Given the description of an element on the screen output the (x, y) to click on. 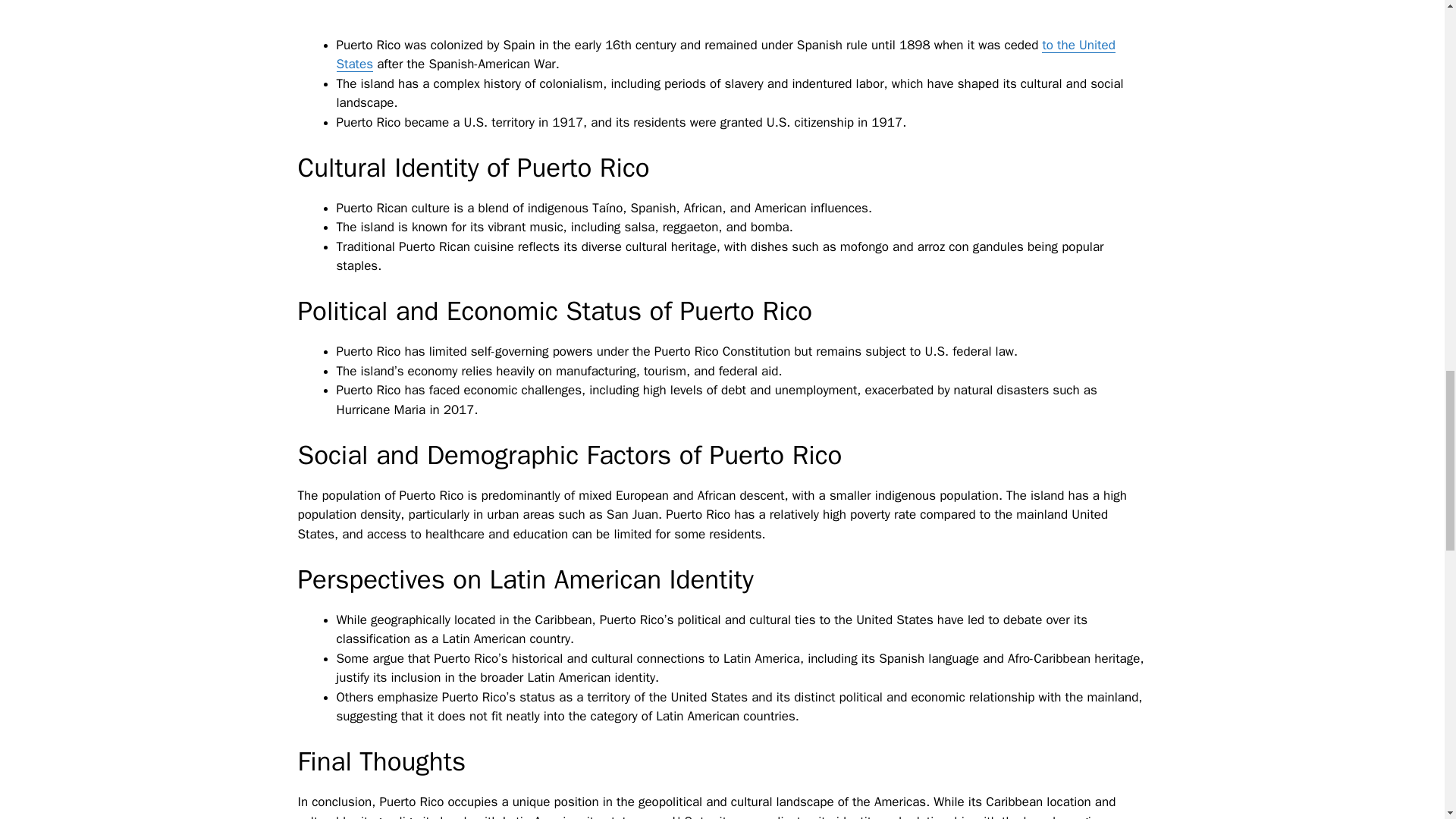
to the United States (725, 54)
